Given the description of an element on the screen output the (x, y) to click on. 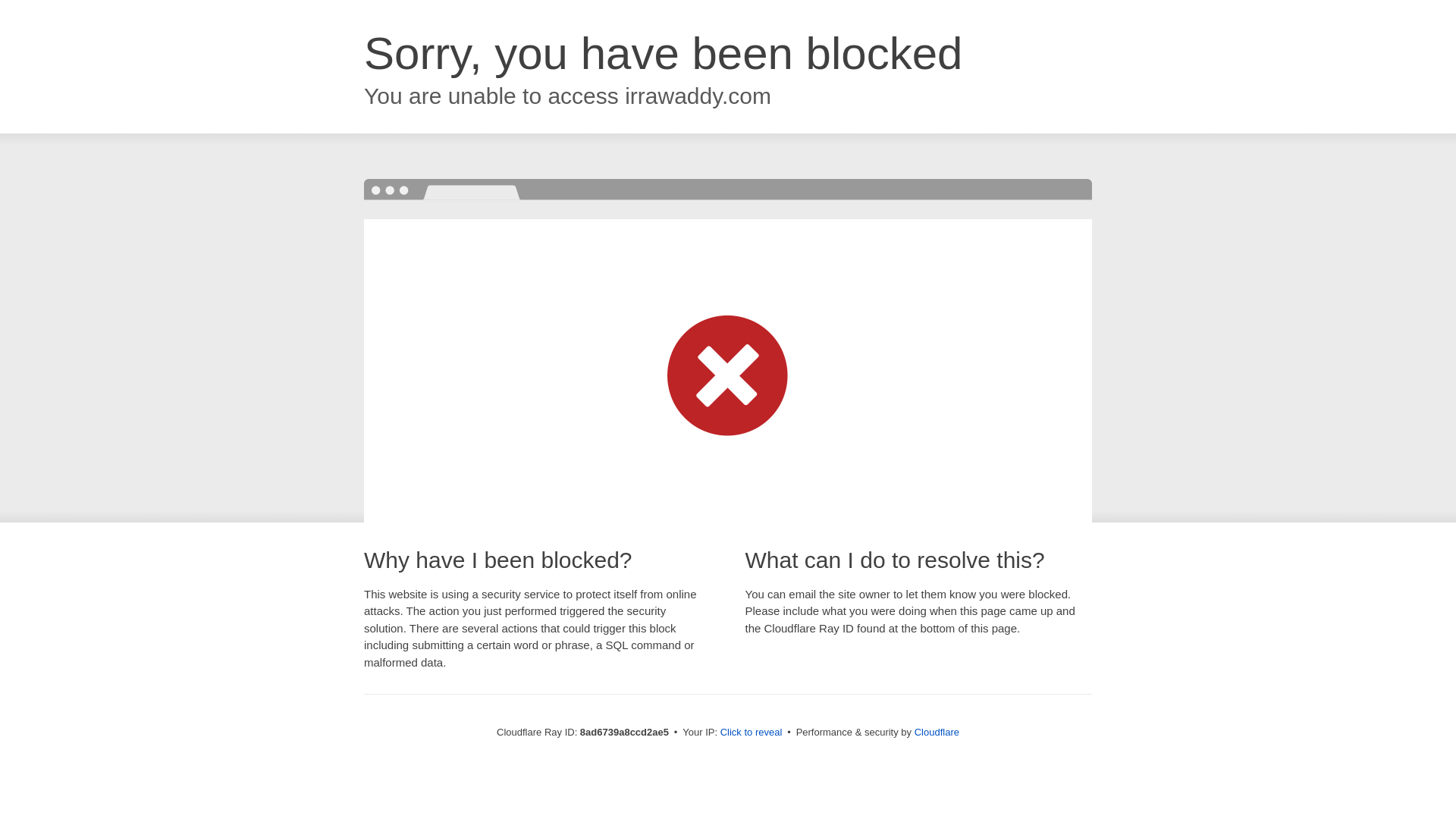
Cloudflare (936, 731)
Click to reveal (751, 732)
